Given the description of an element on the screen output the (x, y) to click on. 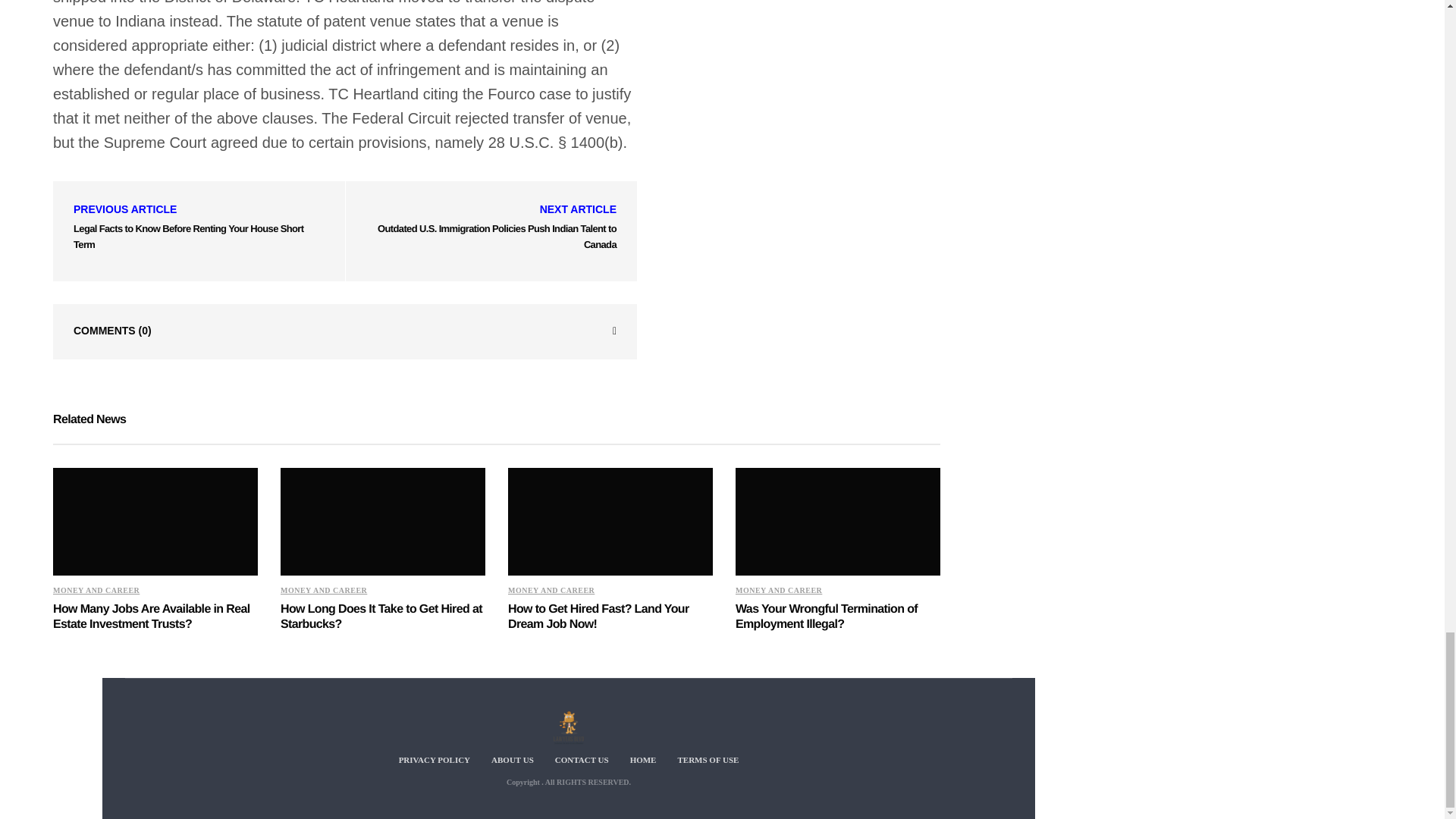
How Long Does It Take to Get Hired at Starbucks? (382, 521)
How to Get Hired Fast? Land Your Dream Job Now! (610, 521)
How Long Does It Take to Get Hired at Starbucks? (381, 616)
Legal Facts to Know Before Renting Your House Short Term (188, 236)
How to Get Hired Fast? Land Your Dream Job Now! (598, 616)
